Given the description of an element on the screen output the (x, y) to click on. 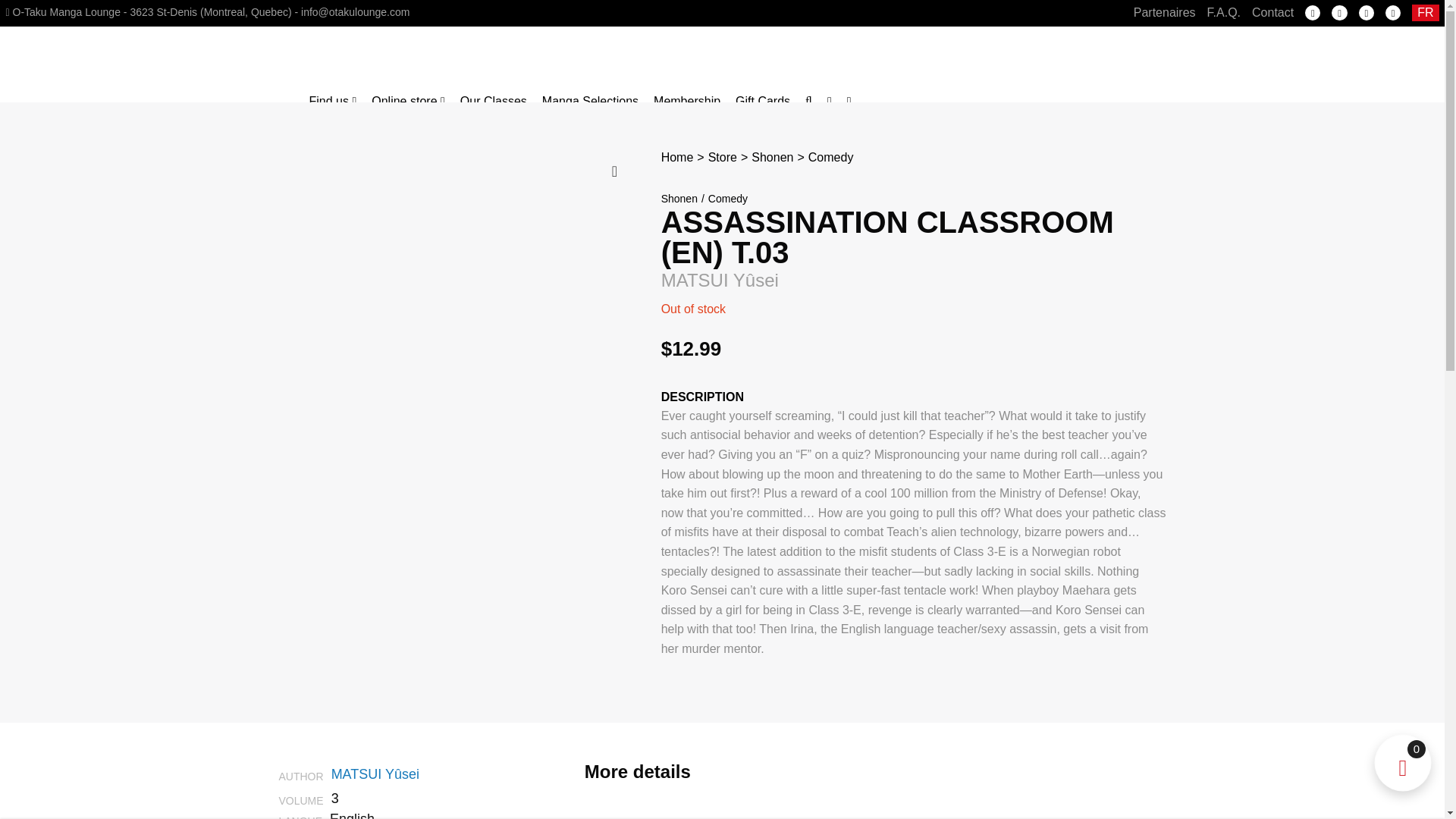
Online store (408, 101)
Gift Cards (762, 101)
Contact (1273, 11)
Find us (332, 101)
Online store (408, 101)
Find us (332, 101)
Our Classes (493, 101)
discord (1393, 12)
FR (1425, 12)
Partenaires (1164, 11)
Manga Selections (590, 101)
Membership (686, 101)
F.A.Q. (1223, 11)
